Given the description of an element on the screen output the (x, y) to click on. 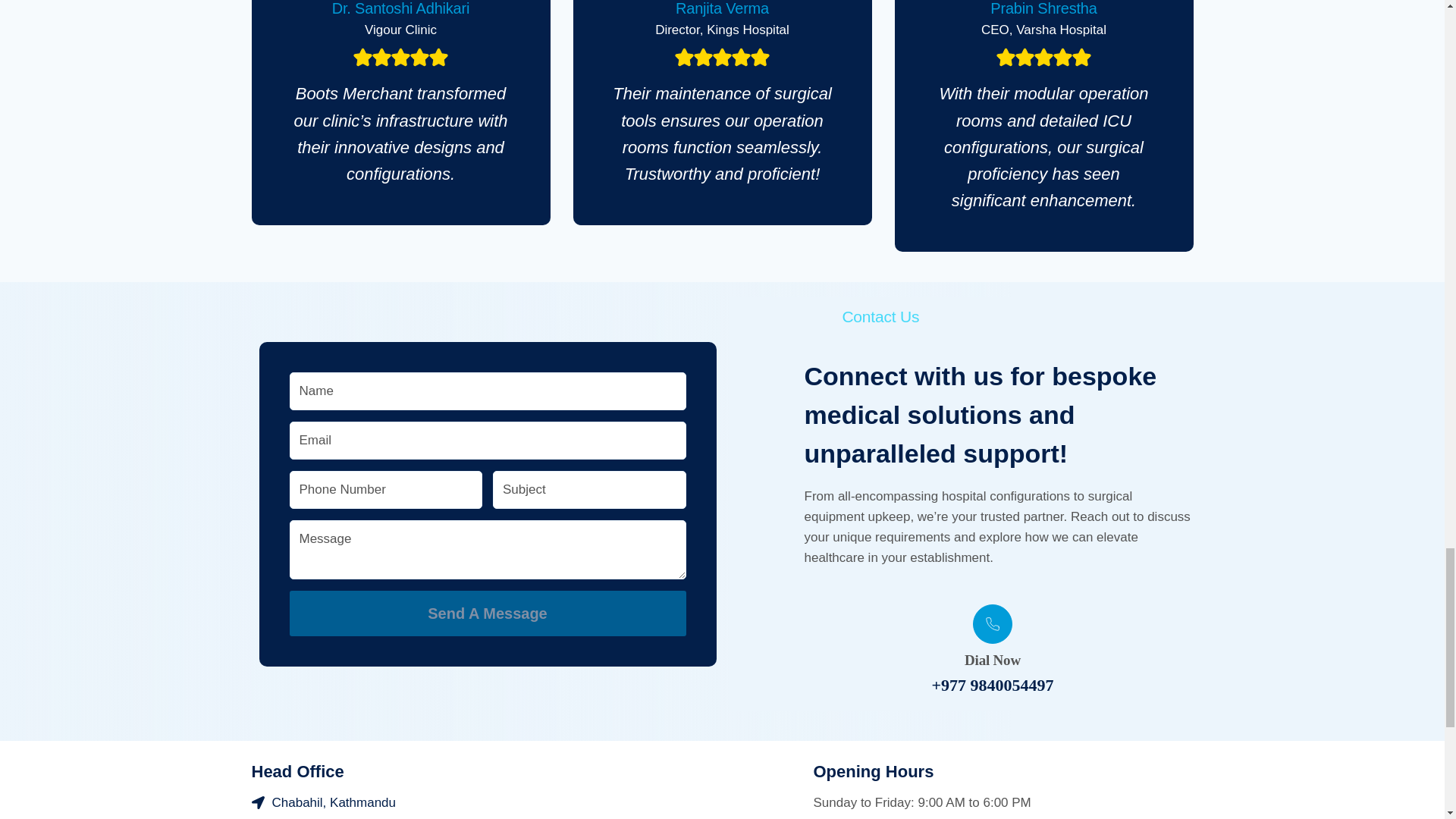
Send A Message (487, 613)
